Given the description of an element on the screen output the (x, y) to click on. 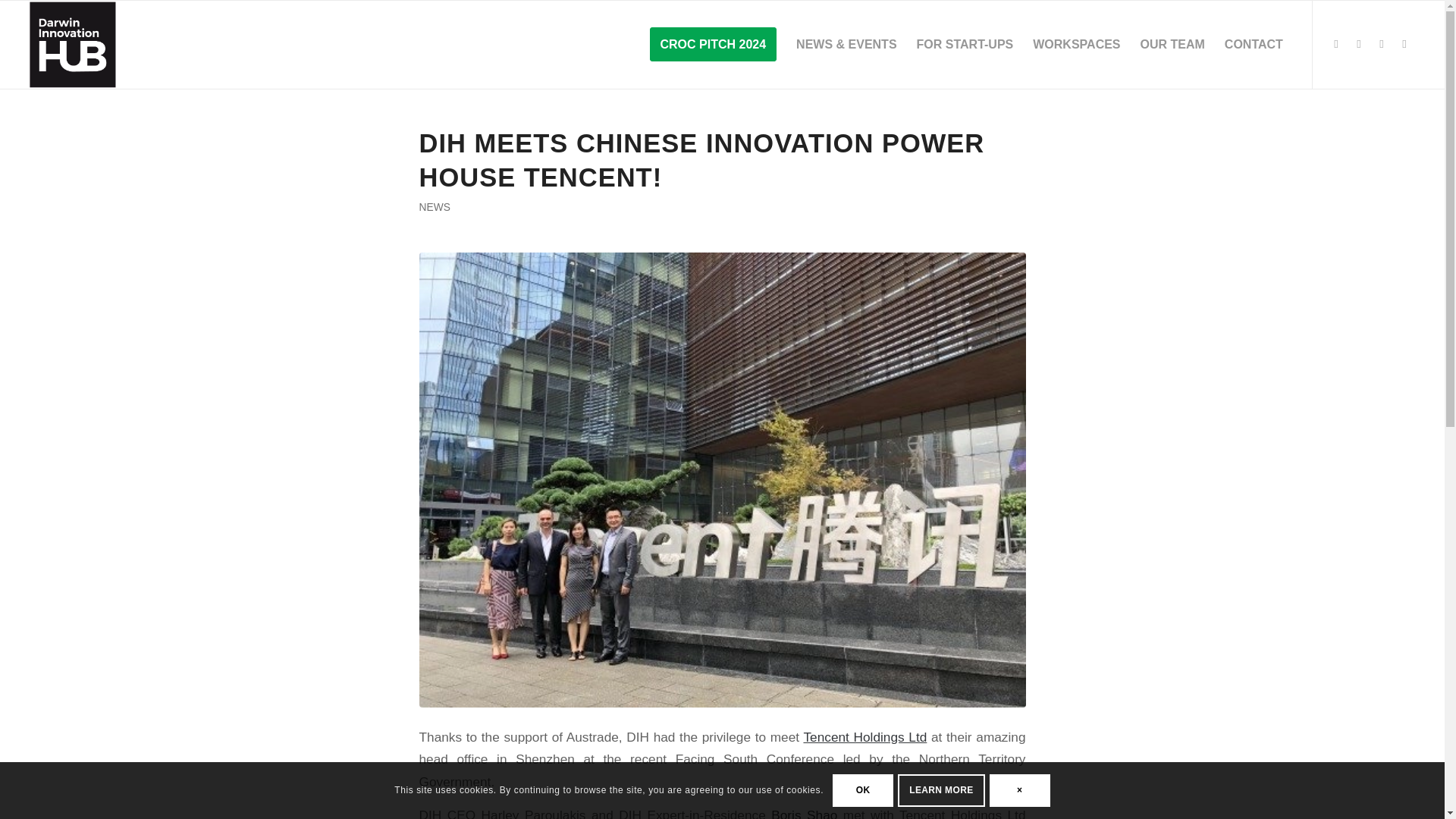
OUR TEAM (1172, 44)
LinkedIn (1381, 43)
DIH-SliderArtboard 16 (72, 44)
Facebook (1336, 43)
FOR START-UPS (965, 44)
Tencent Holdings Ltd (864, 736)
WORKSPACES (1076, 44)
NEWS (434, 206)
X (1404, 43)
Boris Shao (804, 813)
CROC PITCH 2024 (713, 44)
Instagram (1359, 43)
